Given the description of an element on the screen output the (x, y) to click on. 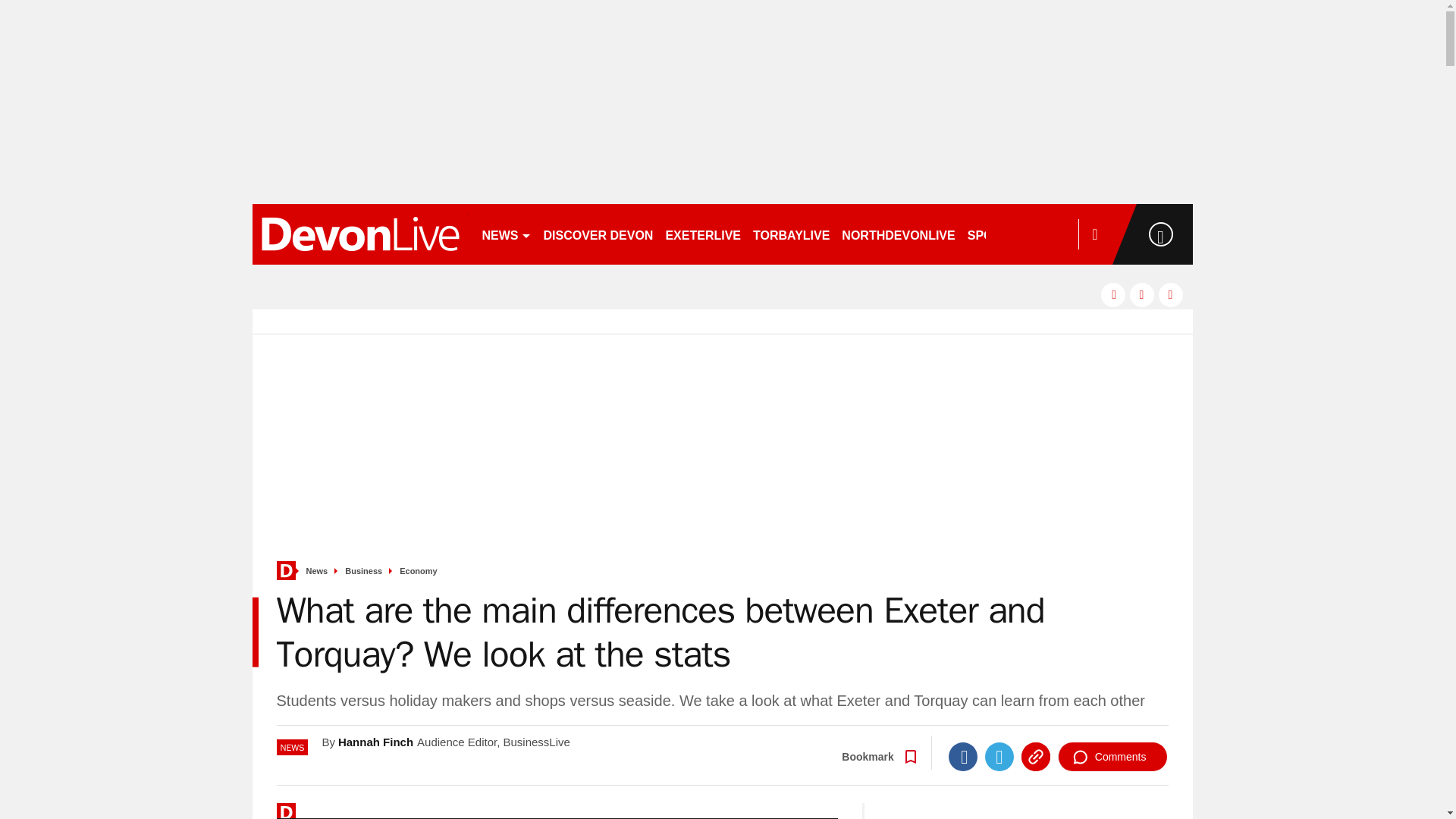
TORBAYLIVE (790, 233)
facebook (1112, 294)
devonlive (359, 233)
EXETERLIVE (702, 233)
NORTHDEVONLIVE (897, 233)
Facebook (962, 756)
NEWS (506, 233)
DISCOVER DEVON (598, 233)
twitter (1141, 294)
SPORT (993, 233)
